Given the description of an element on the screen output the (x, y) to click on. 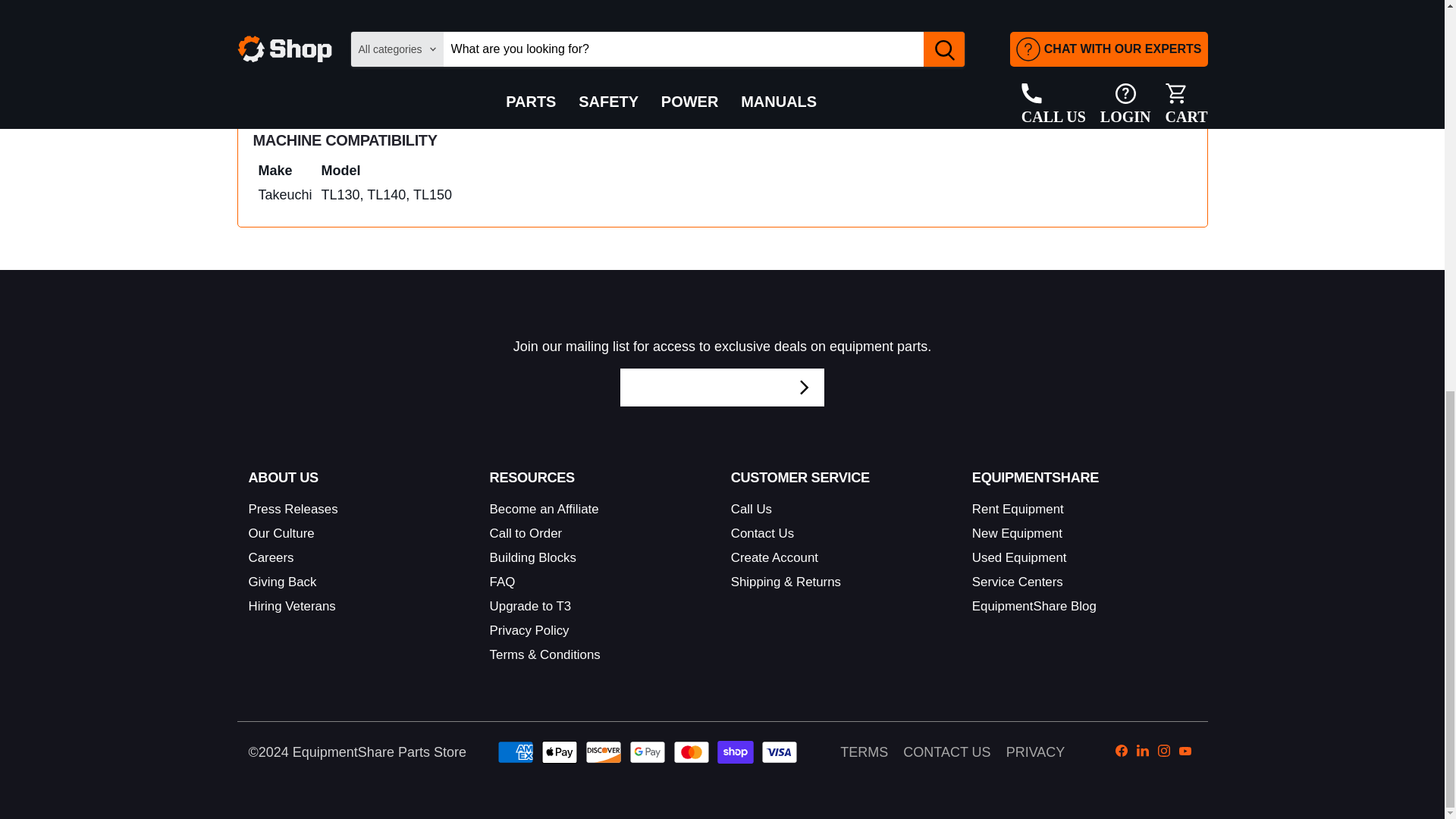
Google Pay (646, 752)
American Express (515, 752)
Discover (603, 752)
Apple Pay (559, 752)
